Given the description of an element on the screen output the (x, y) to click on. 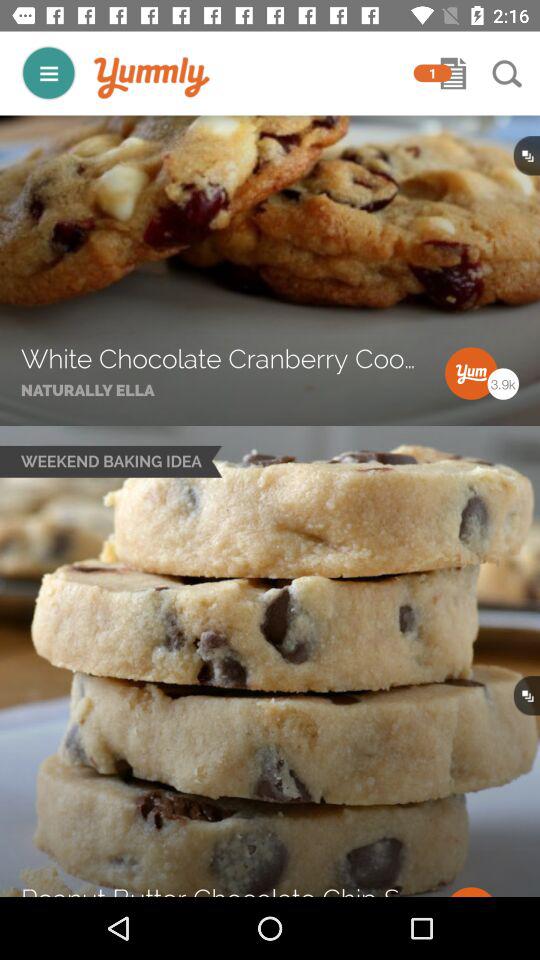
save option (453, 73)
